Given the description of an element on the screen output the (x, y) to click on. 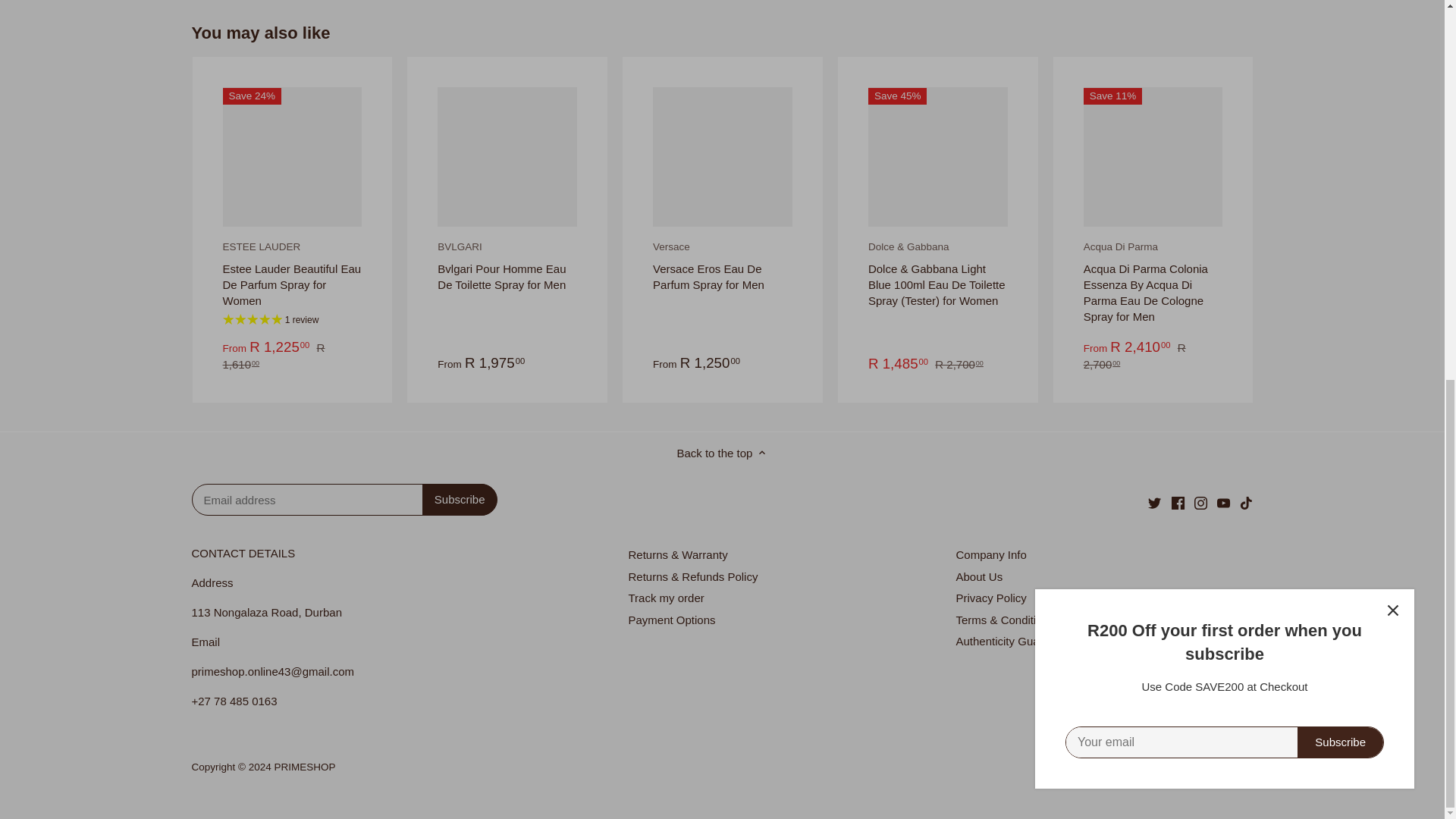
Subscribe (459, 499)
